Given the description of an element on the screen output the (x, y) to click on. 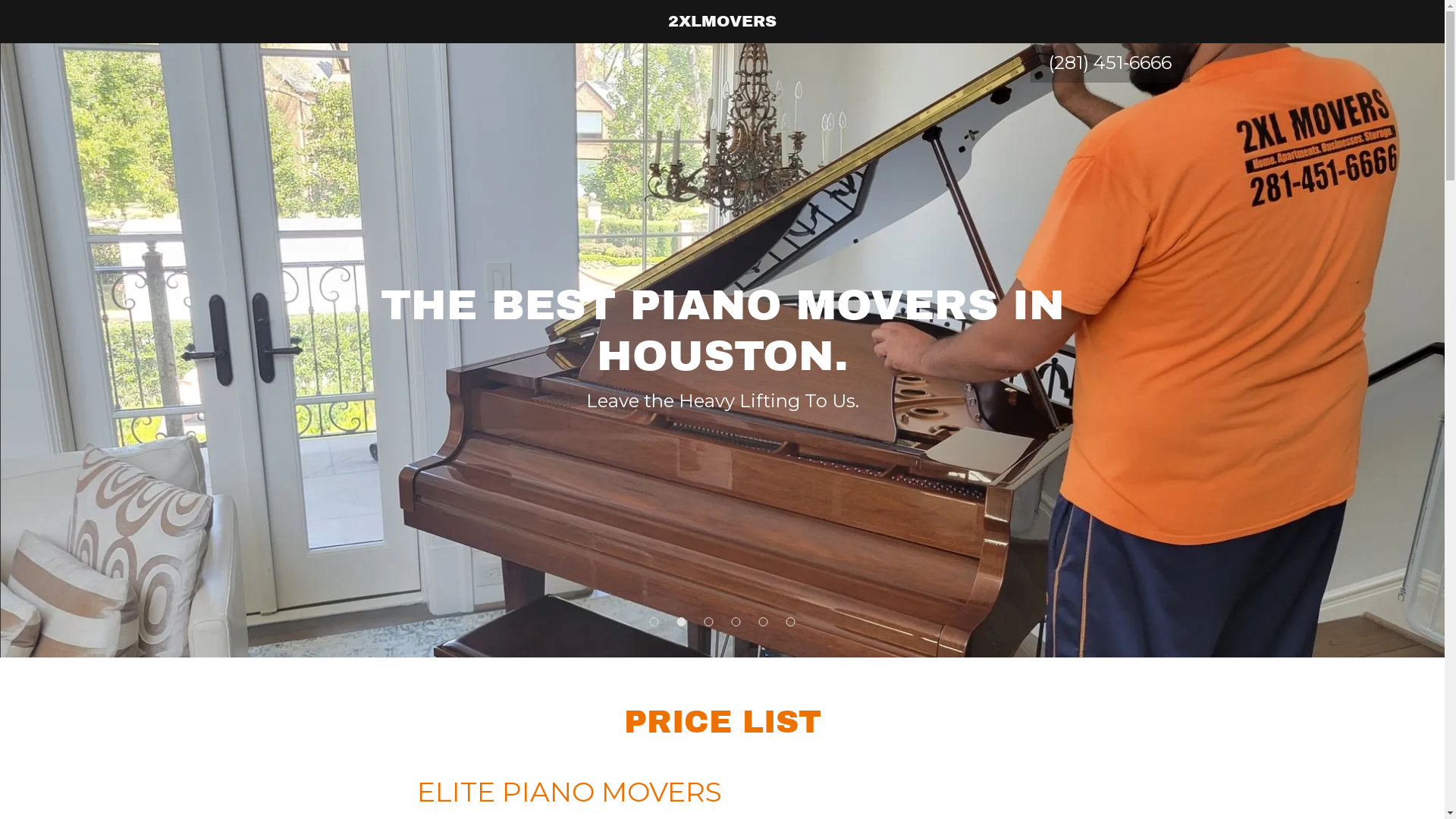
2XLMOVERS Element type: text (722, 21)
(281) 451-6666 Element type: text (1109, 62)
